Given the description of an element on the screen output the (x, y) to click on. 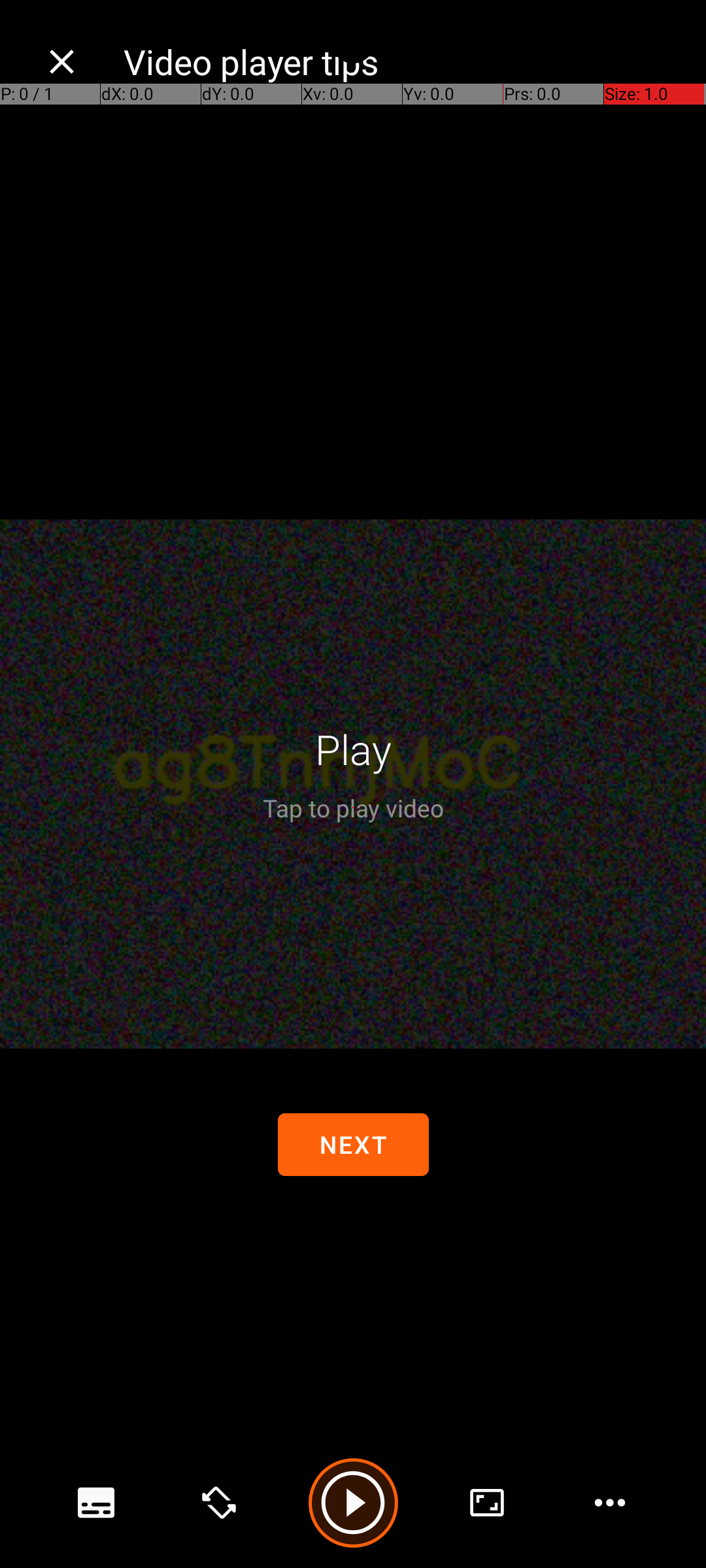
Video player. Tap to show controls. Tap the back button to hide them Element type: android.widget.FrameLayout (353, 784)
Video player tips Element type: android.widget.TextView (400, 61)
Play Element type: android.widget.TextView (353, 748)
Tap to play video Element type: android.widget.TextView (352, 807)
advanced options Element type: android.widget.ImageView (486, 1502)
